Given the description of an element on the screen output the (x, y) to click on. 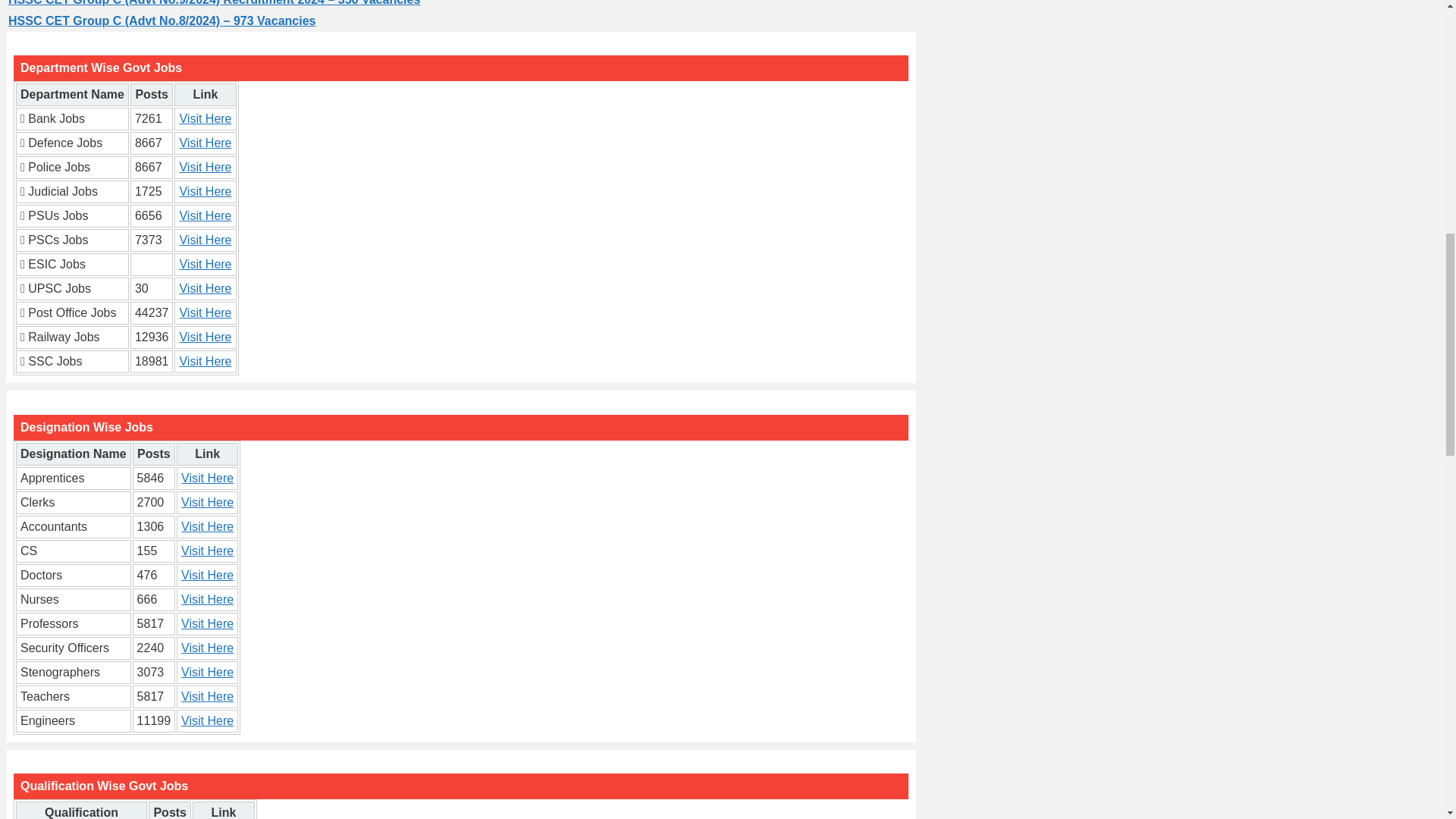
Visit Here (205, 166)
Visit Here (206, 526)
Visit Here (205, 142)
Visit Here (206, 550)
Visit Here (205, 287)
Visit Here (205, 118)
Visit Here (205, 264)
Visit Here (205, 360)
Visit Here (206, 477)
Visit Here (205, 239)
Visit Here (205, 215)
Visit Here (206, 574)
Visit Here (205, 336)
Visit Here (206, 502)
Visit Here (206, 599)
